Given the description of an element on the screen output the (x, y) to click on. 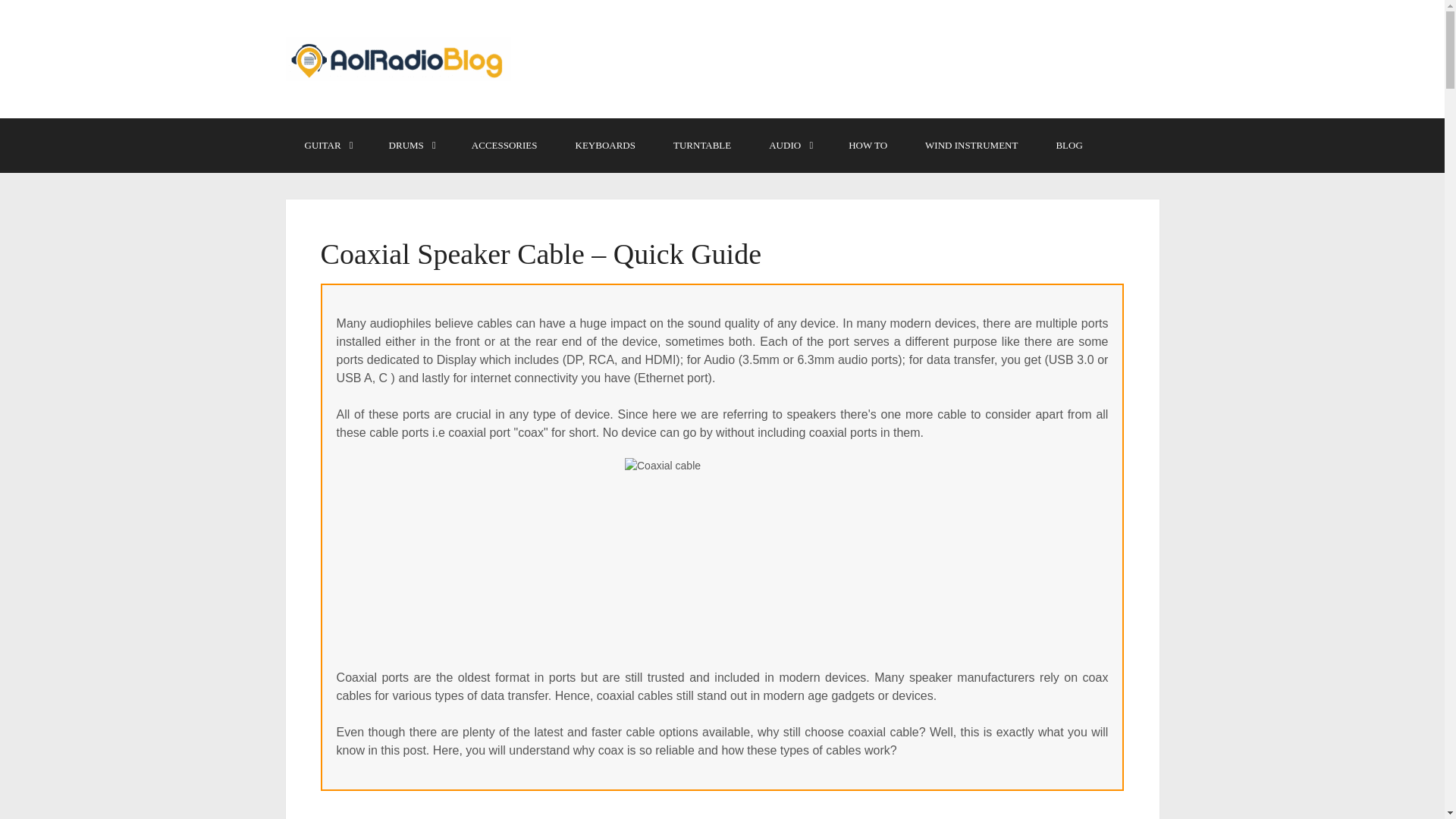
TURNTABLE (701, 144)
DRUMS (410, 144)
HOW TO (867, 144)
WIND INSTRUMENT (970, 144)
Coaxial cable (721, 554)
AUDIO (789, 144)
ACCESSORIES (504, 144)
GUITAR (327, 144)
KEYBOARDS (604, 144)
BLOG (1068, 144)
